Given the description of an element on the screen output the (x, y) to click on. 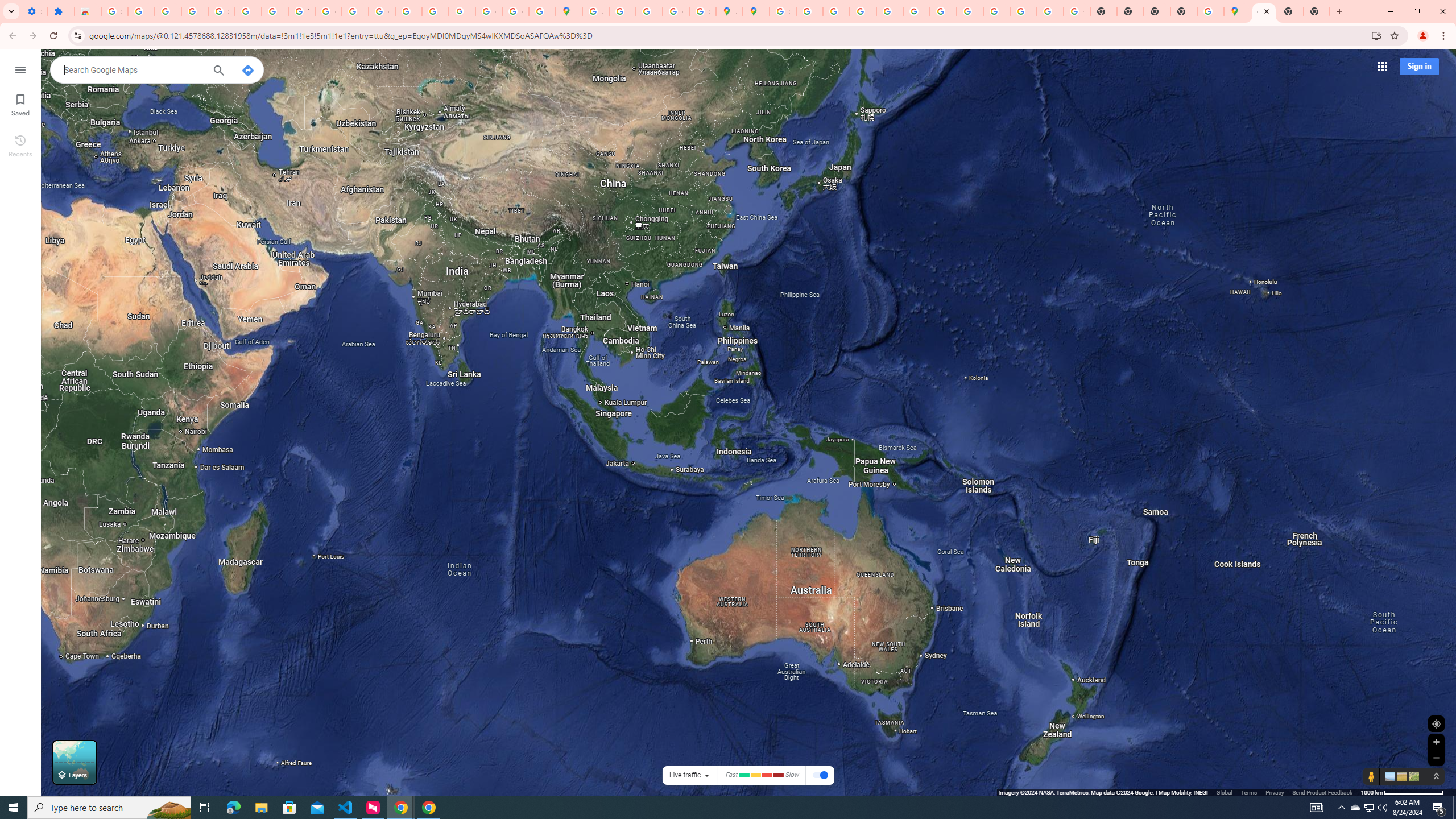
 Show traffic  (820, 775)
Delete photos & videos - Computer - Google Photos Help (141, 11)
Privacy Help Center - Policies Help (836, 11)
Google Maps (1263, 11)
New Tab (1183, 11)
Directions (247, 70)
Zoom in (1436, 741)
